Given the description of an element on the screen output the (x, y) to click on. 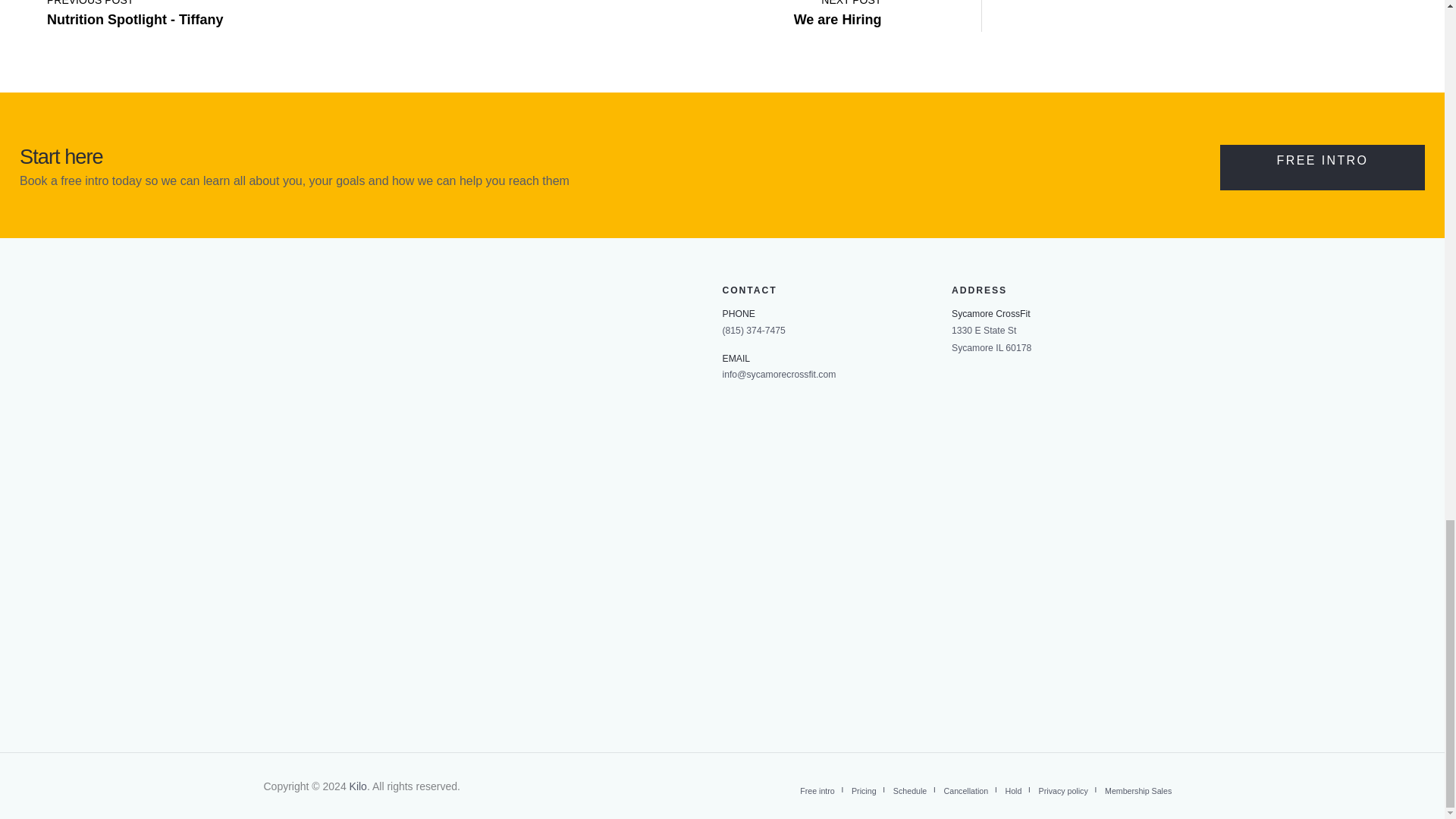
We are Hiring (837, 10)
FREE INTRO (1322, 167)
Nutrition Spotlight - Tiffany (135, 10)
